Given the description of an element on the screen output the (x, y) to click on. 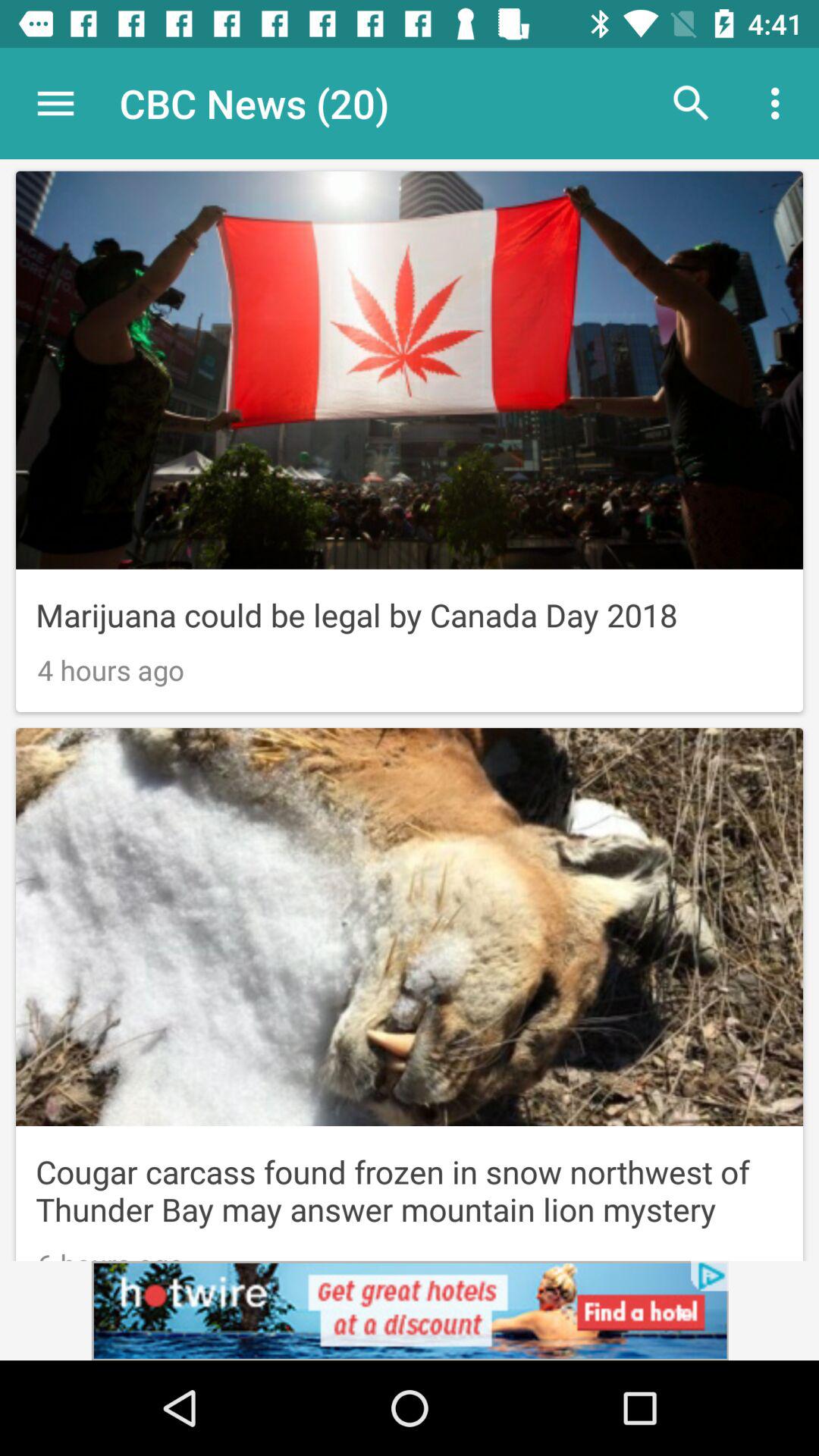
click on advertisement (409, 1310)
